Given the description of an element on the screen output the (x, y) to click on. 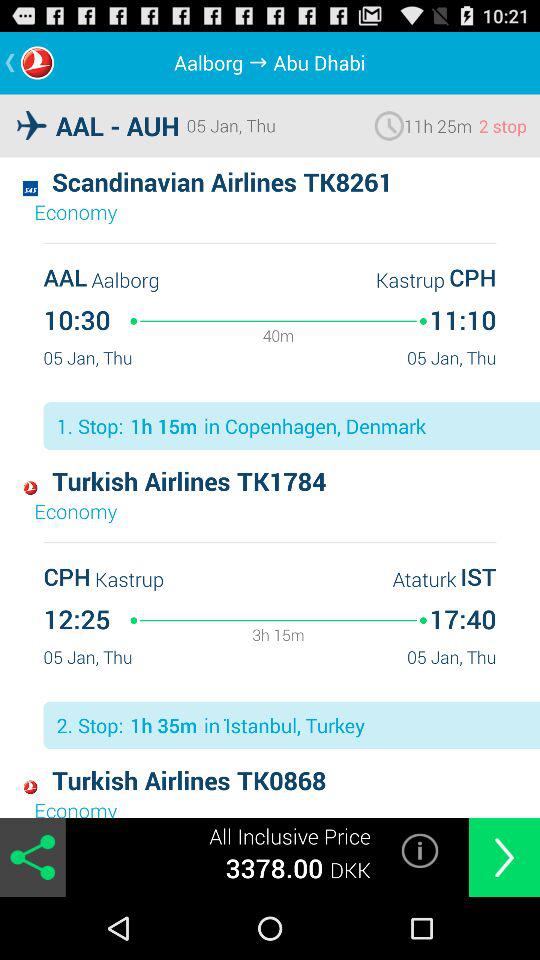
tap item below 05 jan, thu (419, 850)
